Given the description of an element on the screen output the (x, y) to click on. 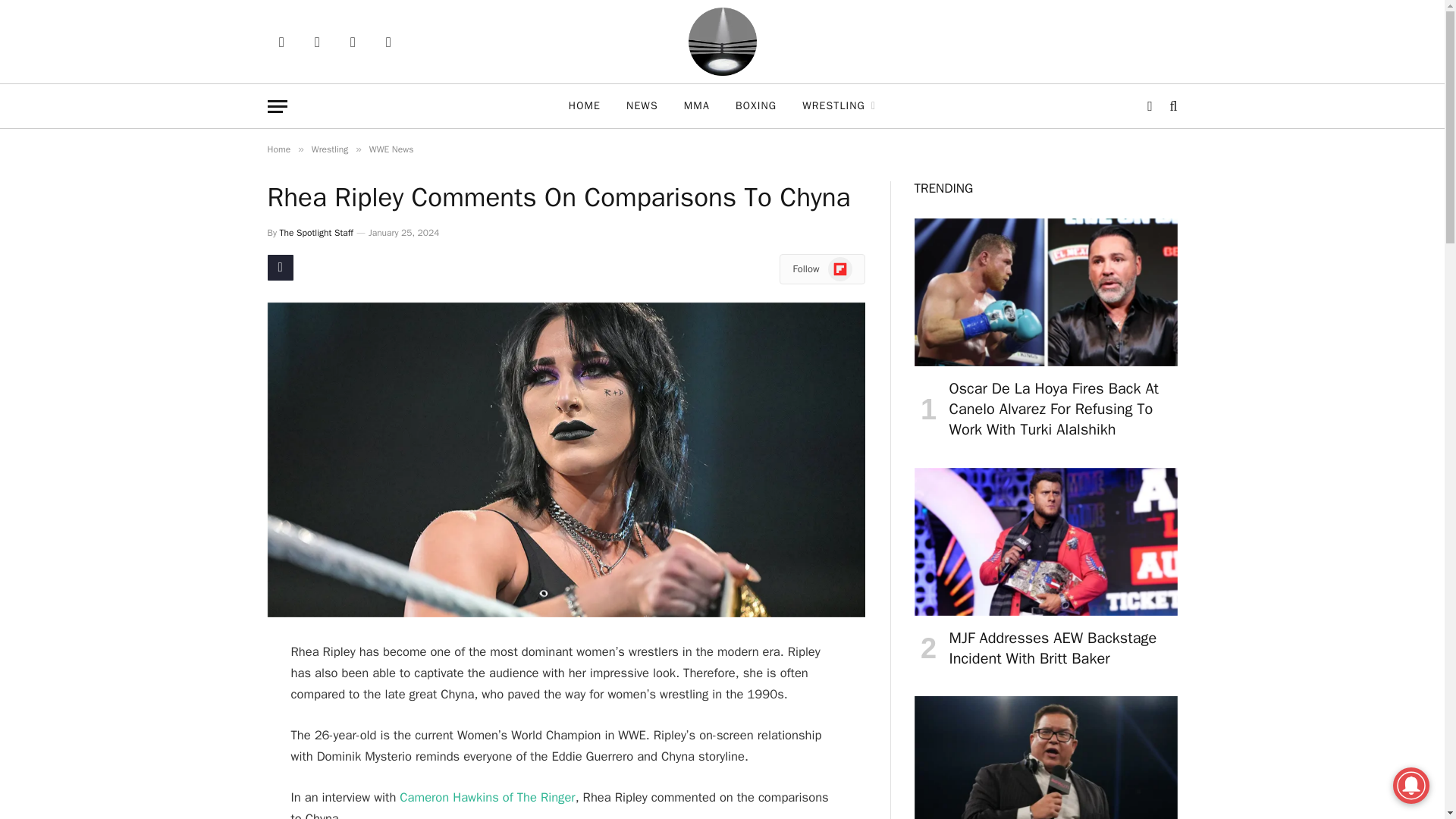
Switch to Dark Design - easier on eyes. (1149, 106)
Facebook (280, 41)
MMA (696, 105)
HOME (584, 105)
Threads (316, 41)
YouTube (351, 41)
Posts by The Spotlight Staff (316, 232)
NEWS (641, 105)
Copy Link (279, 267)
